Given the description of an element on the screen output the (x, y) to click on. 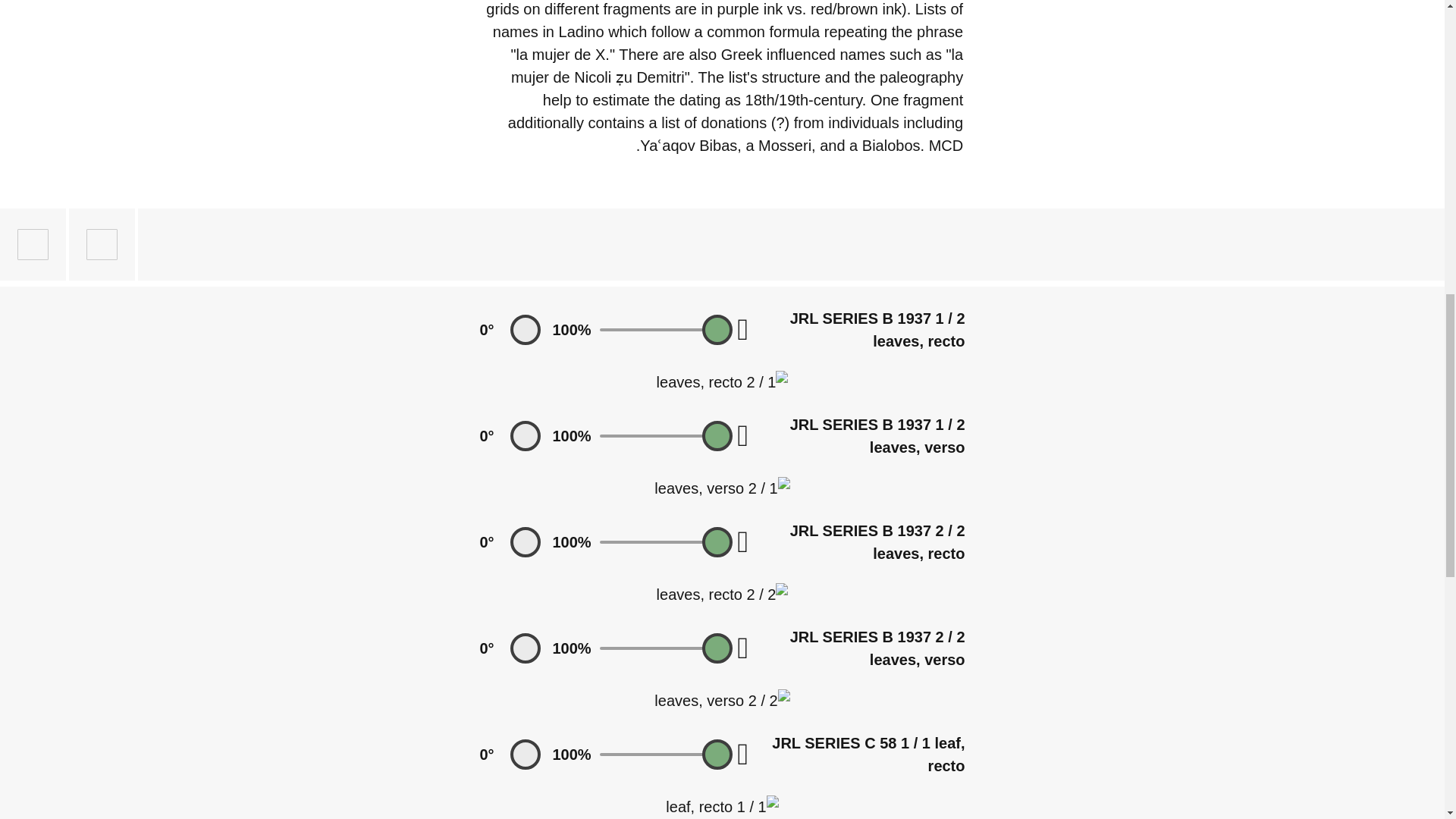
1 (665, 648)
1 (665, 435)
1 (665, 329)
1 (665, 753)
1 (665, 541)
